Given the description of an element on the screen output the (x, y) to click on. 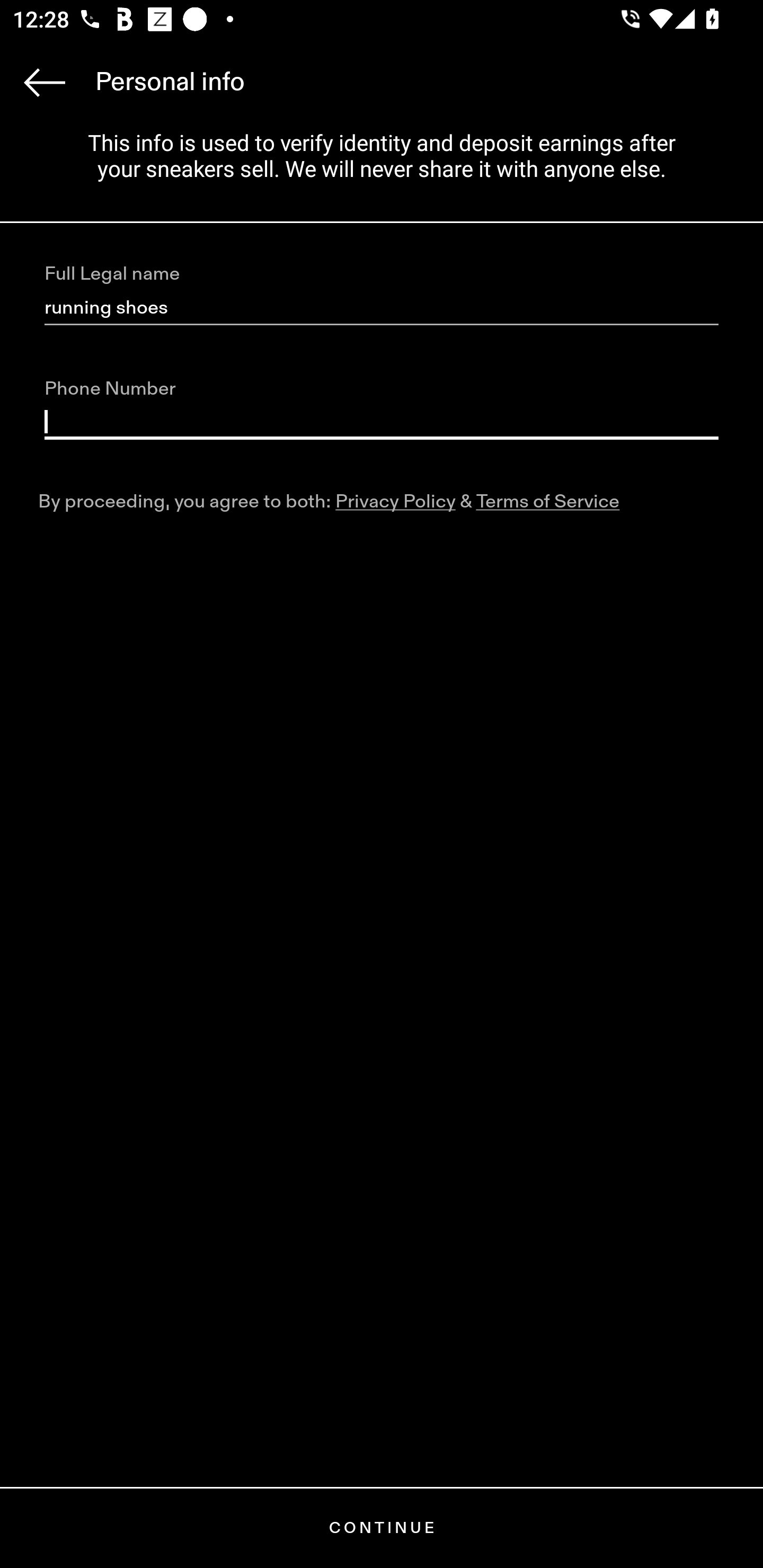
Navigate up (44, 82)
running shoes (381, 308)
Phone Number (381, 422)
CONTINUE (381, 1528)
